Given the description of an element on the screen output the (x, y) to click on. 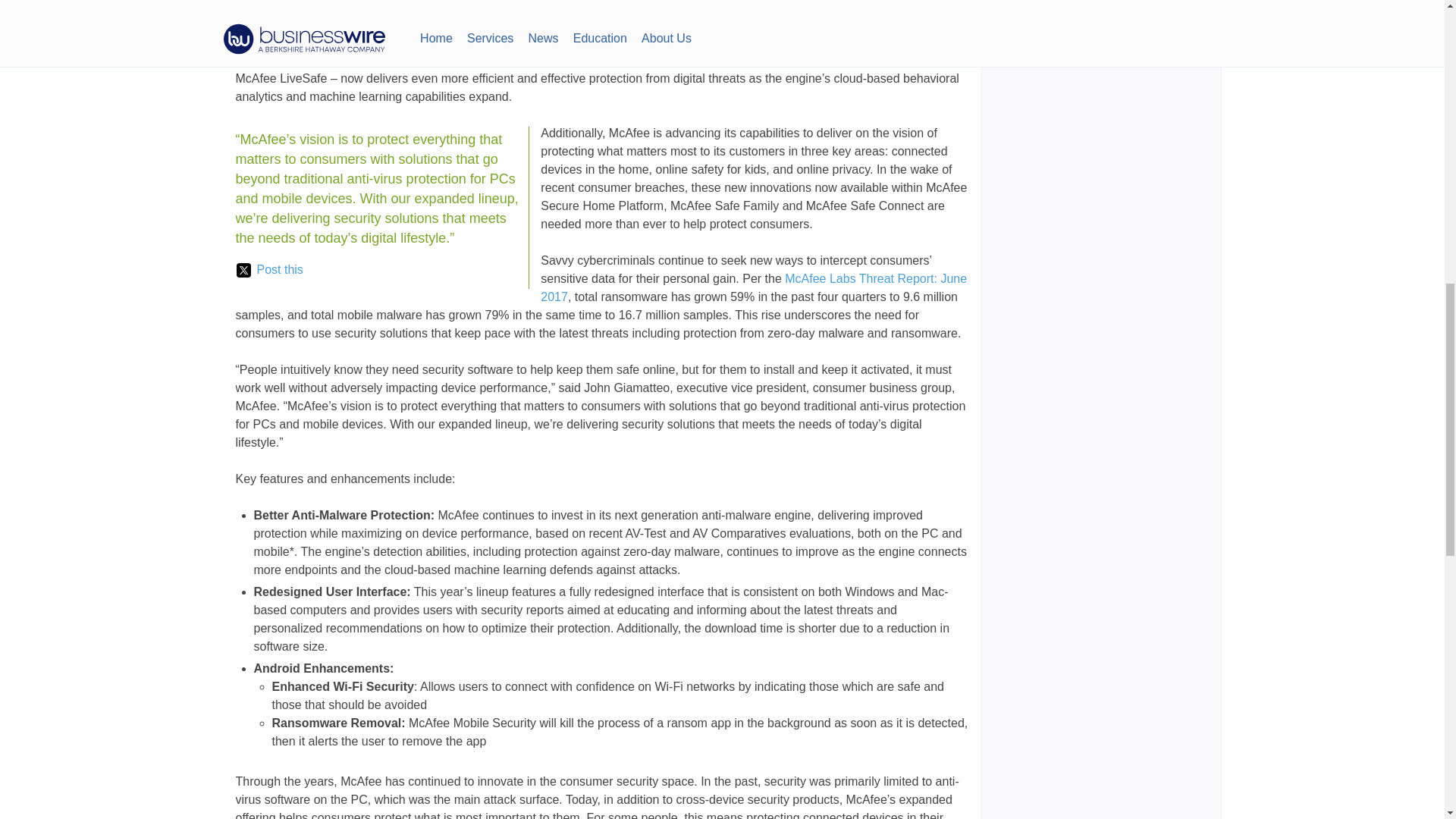
BUSINESS WIRE (413, 23)
Post this (269, 269)
McAfee Labs Threat Report: June 2017 (753, 287)
